Given the description of an element on the screen output the (x, y) to click on. 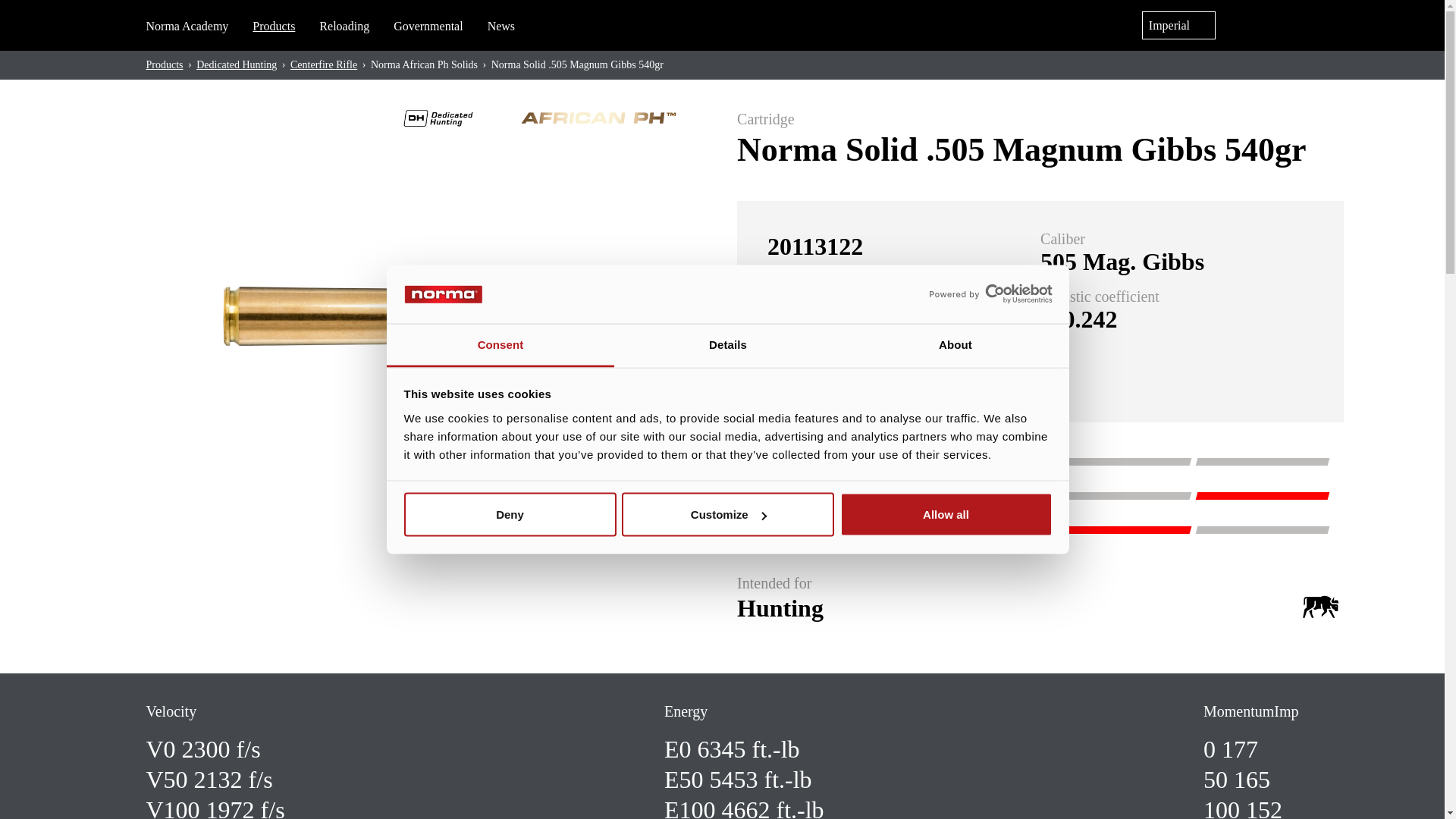
About (954, 344)
Details (727, 344)
Consent (500, 344)
